Given the description of an element on the screen output the (x, y) to click on. 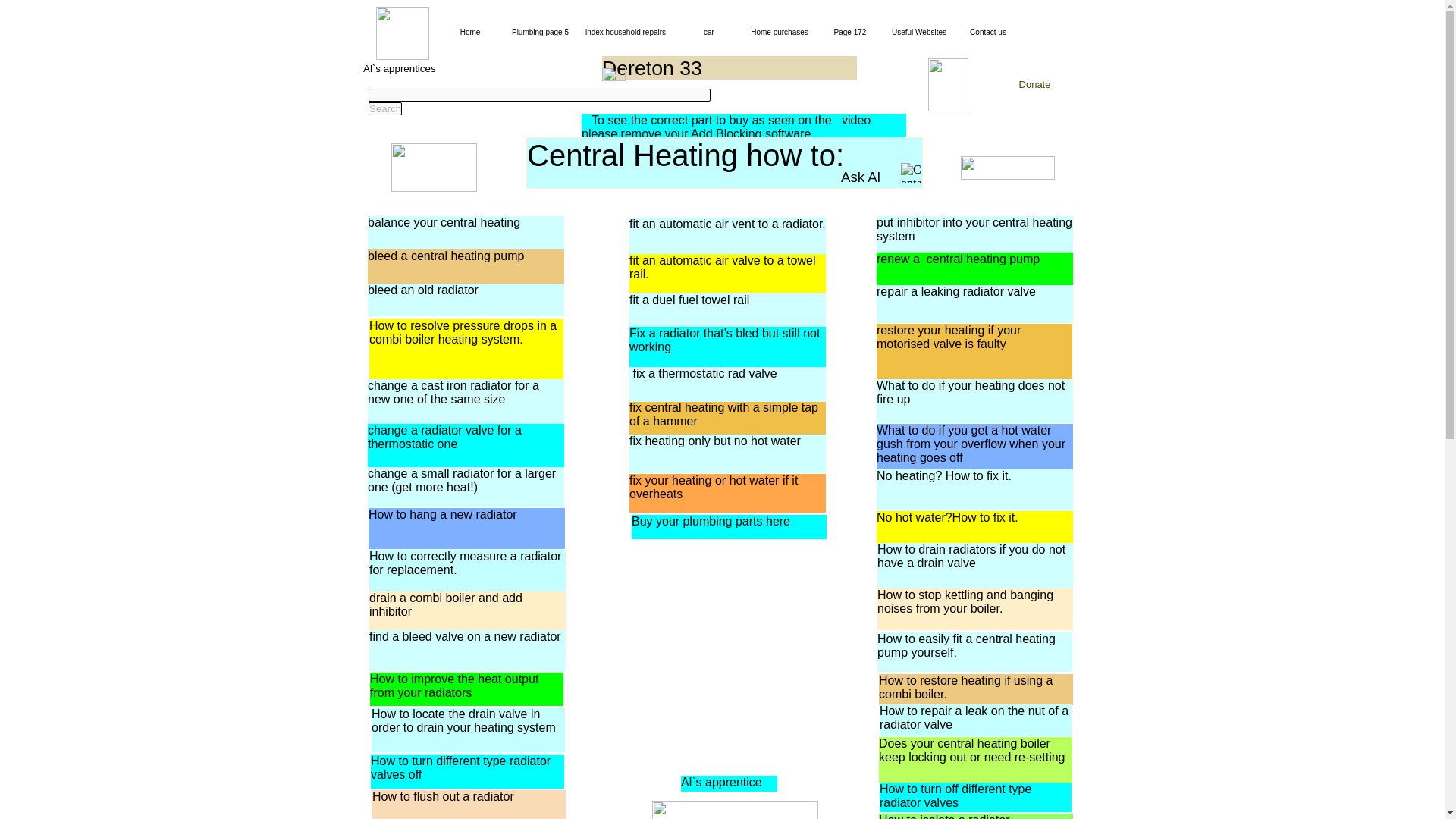
Home purchases (779, 31)
No hot water?How to fix it. (946, 517)
No heating? How to fix it. (943, 475)
Search (384, 108)
What to do if your heating does not fire up (970, 392)
fit a duel fuel towel rail (688, 299)
find a bleed valve on a new radiator (464, 635)
Useful Websites (919, 31)
renew a  central heating pump (957, 258)
car (708, 31)
